Given the description of an element on the screen output the (x, y) to click on. 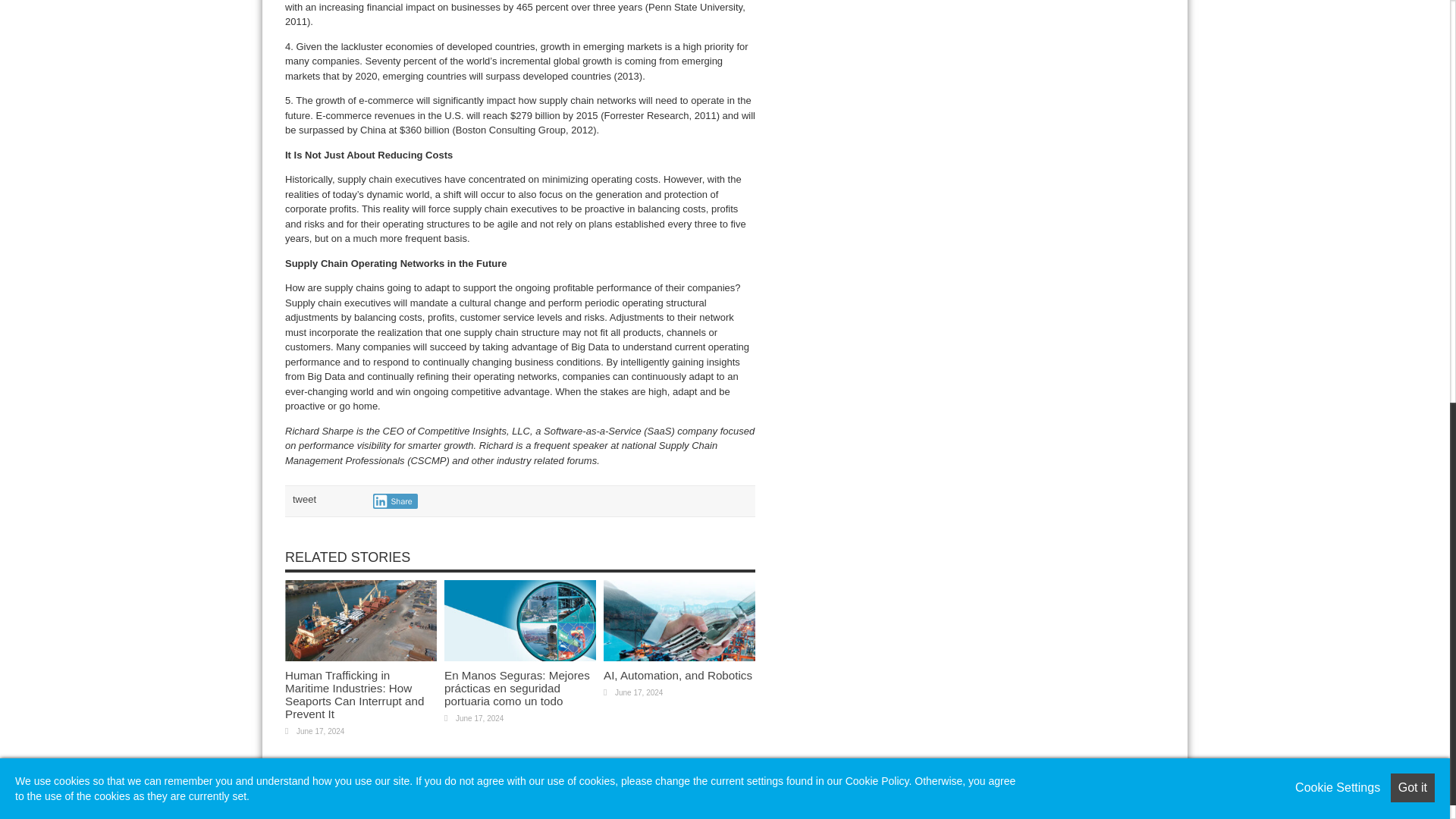
Permalink to AI, Automation, and Robotics (678, 675)
Permalink to AI, Automation, and Robotics (679, 657)
